Given the description of an element on the screen output the (x, y) to click on. 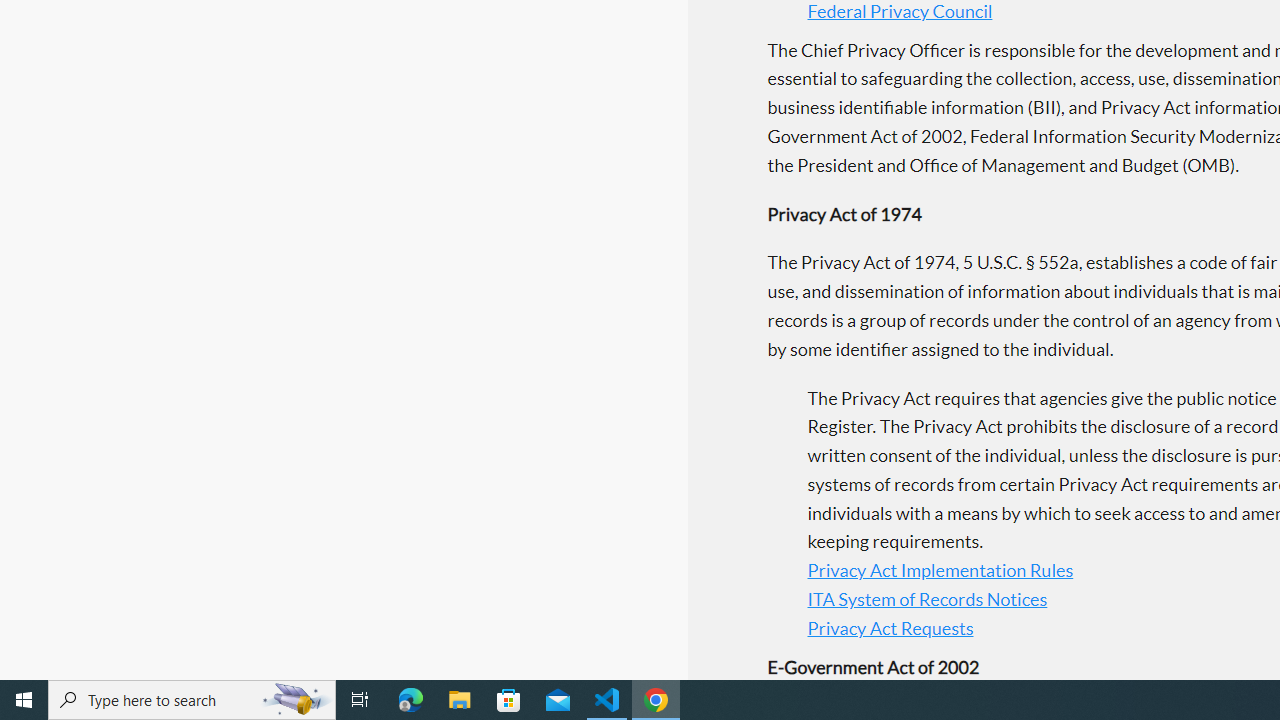
Privacy Act Requests (890, 627)
ITA System of Records Notices (927, 599)
Privacy Act Implementation Rules (939, 569)
